Given the description of an element on the screen output the (x, y) to click on. 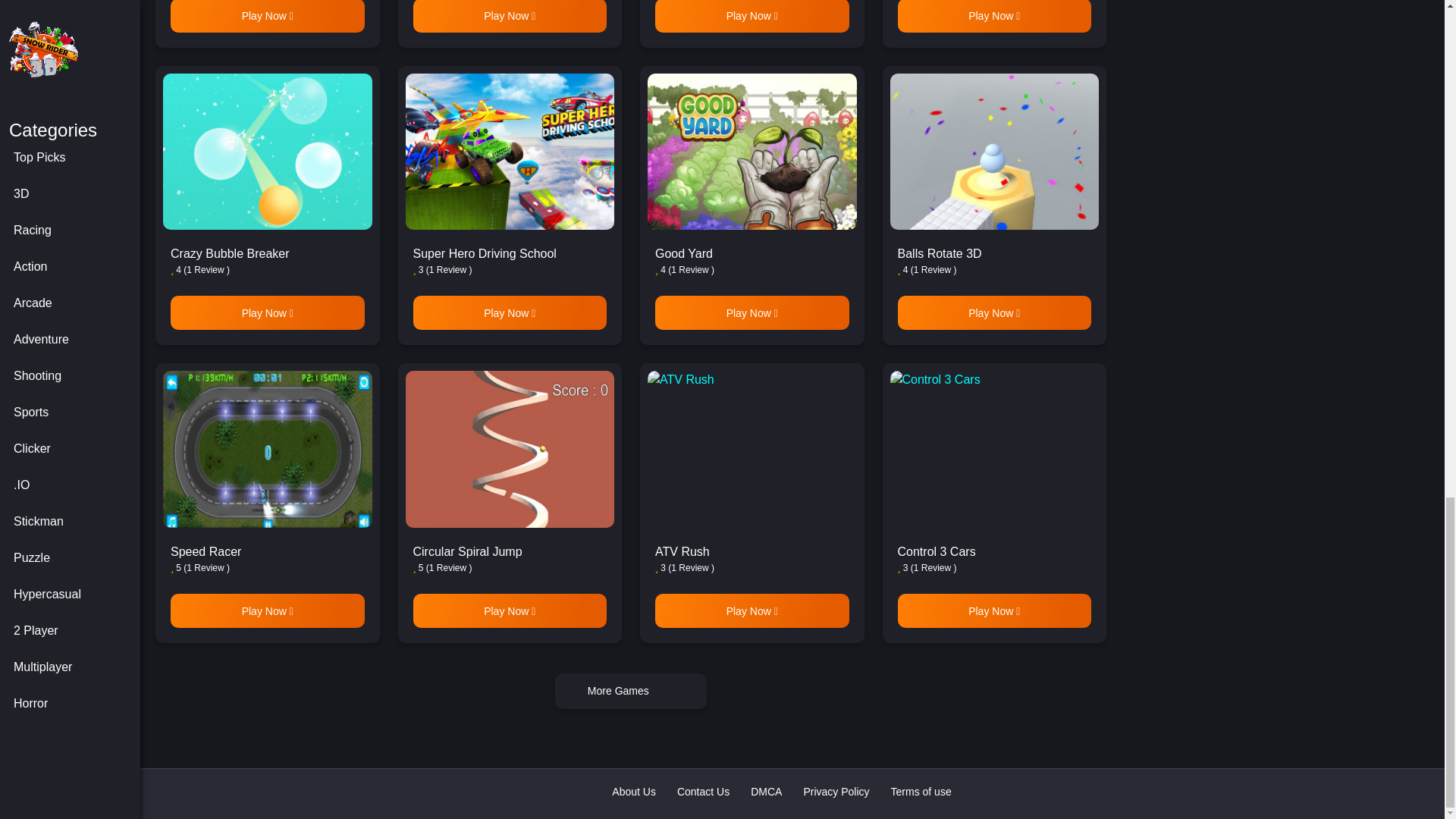
About Us (633, 791)
DMCA (766, 791)
Terms of use (921, 791)
Play Now (267, 16)
Privacy Policy (836, 791)
Contact Us (703, 791)
